Given the description of an element on the screen output the (x, y) to click on. 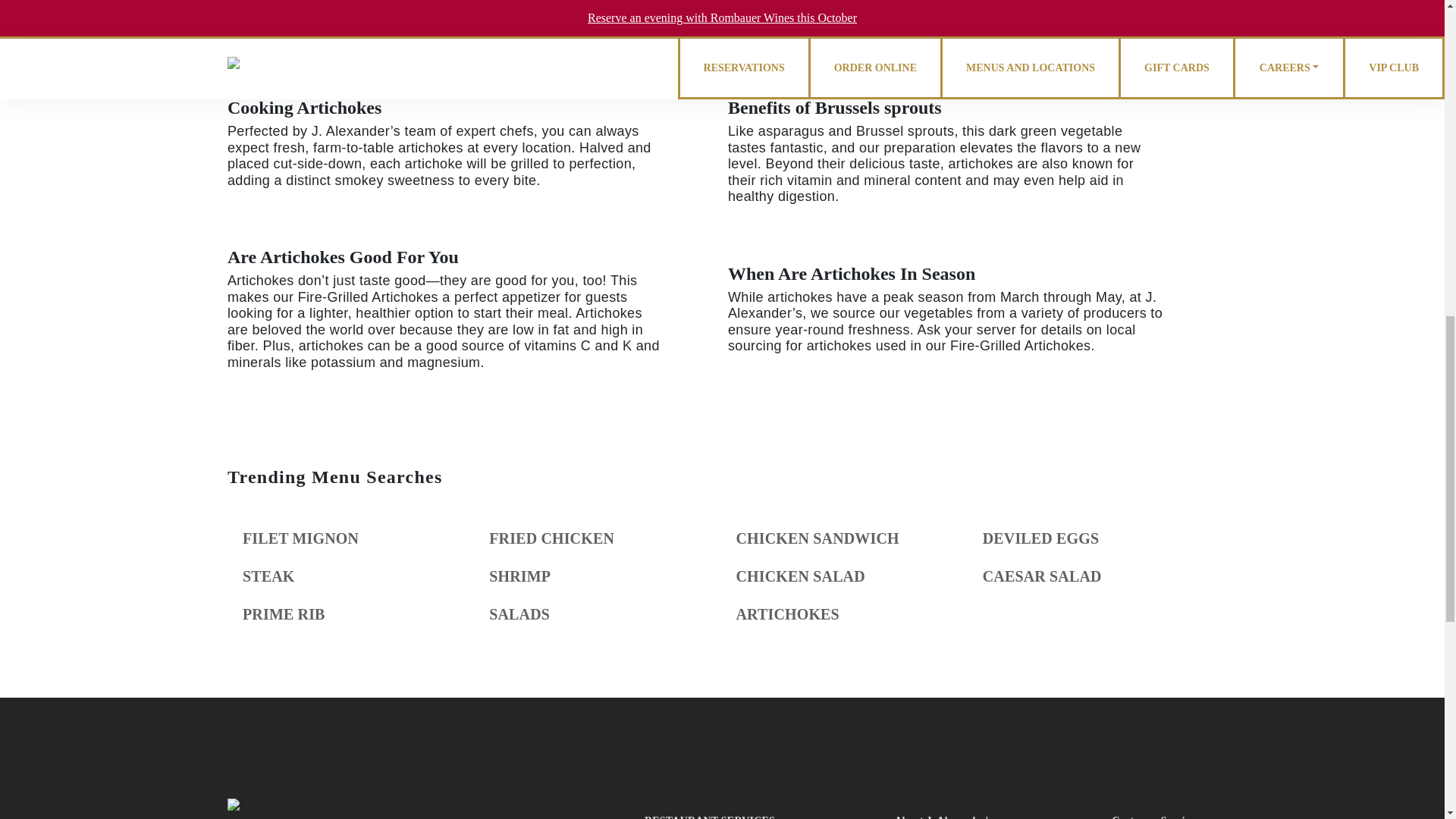
STEAK (269, 576)
PRIME RIB (283, 614)
CHICKEN SALAD (799, 576)
FRIED CHICKEN (551, 538)
SHRIMP (519, 576)
FILET MIGNON (300, 538)
CAESAR SALAD (1042, 576)
ARTICHOKES (786, 614)
DEVILED EGGS (1040, 538)
CHICKEN SANDWICH (816, 538)
